Given the description of an element on the screen output the (x, y) to click on. 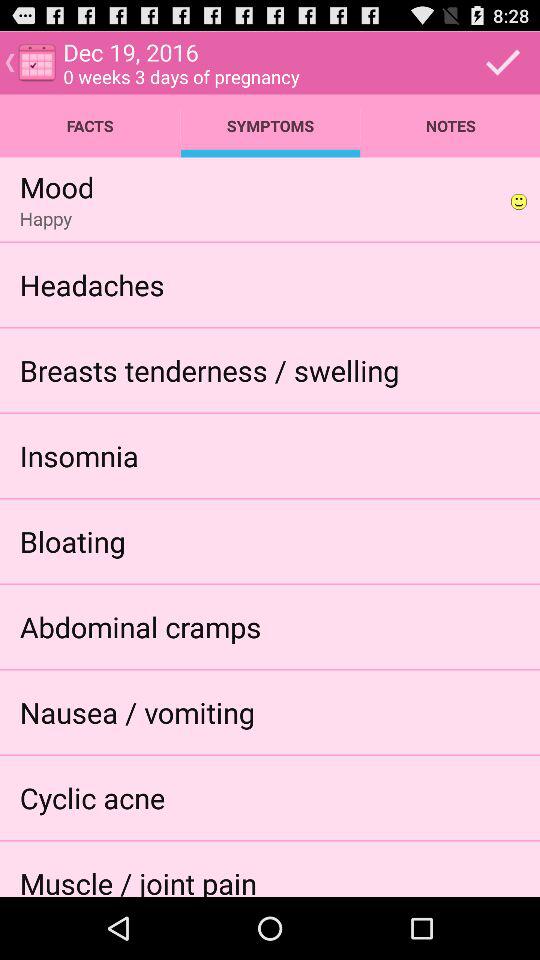
press cyclic acne item (92, 797)
